Given the description of an element on the screen output the (x, y) to click on. 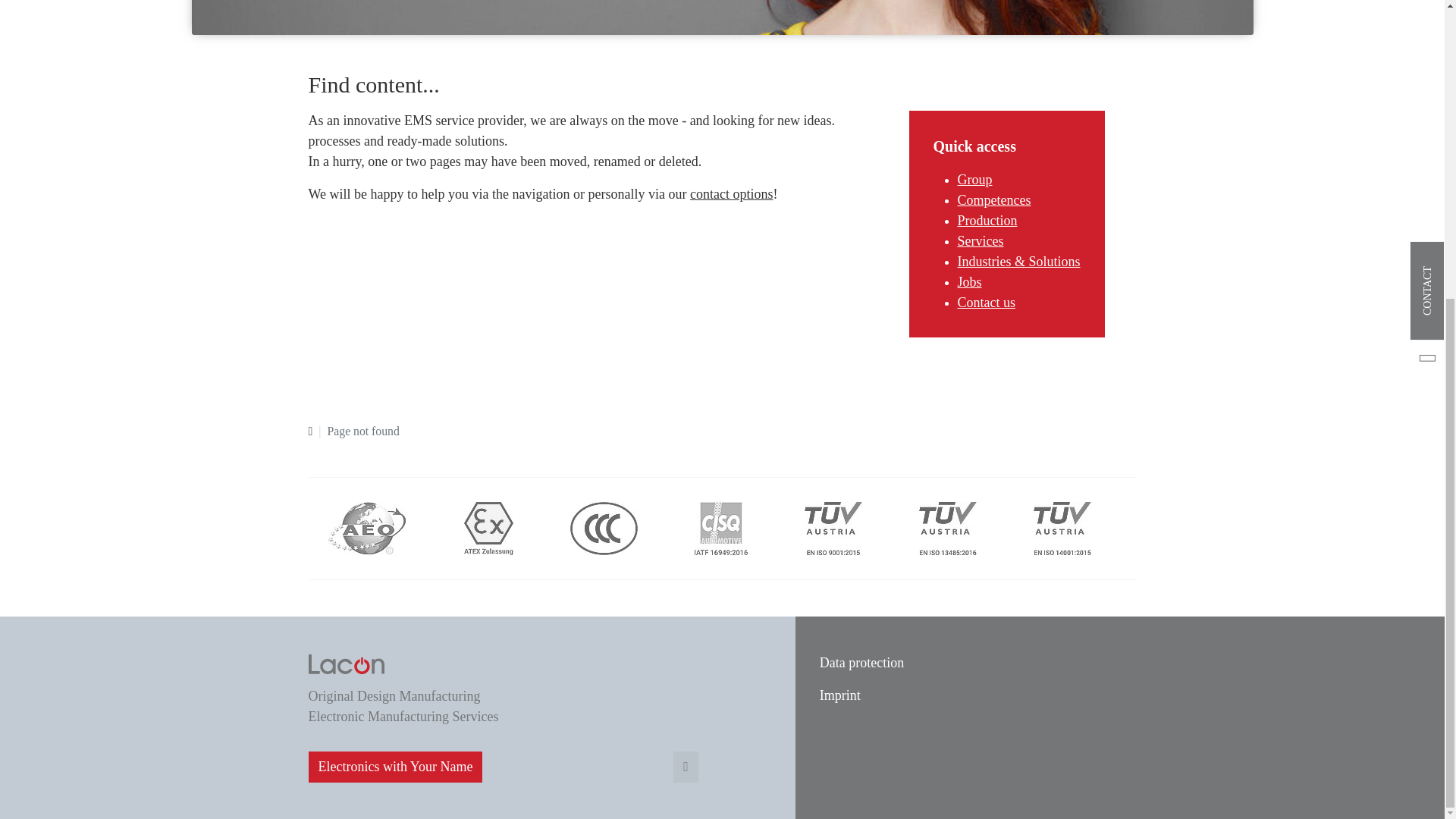
Group (973, 179)
Production (986, 220)
Page not found (362, 431)
Services (979, 240)
Competences (993, 200)
Jobs (968, 281)
Contact us (985, 302)
